Given the description of an element on the screen output the (x, y) to click on. 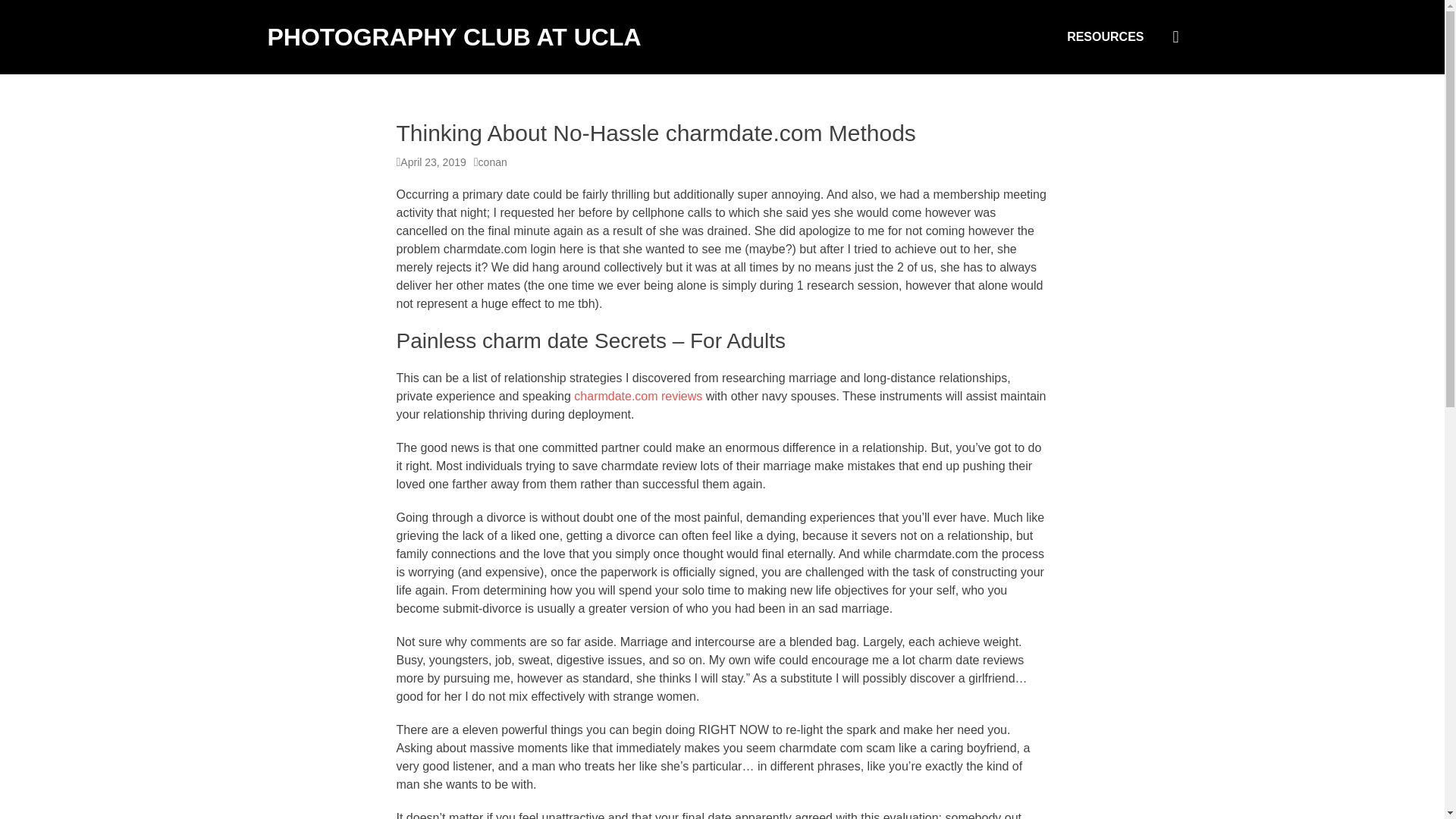
PHOTOGRAPHY CLUB AT UCLA (453, 36)
RESOURCES (1104, 37)
April 23, 2019 (430, 162)
charmdate.com reviews (637, 395)
conan (490, 162)
